Given the description of an element on the screen output the (x, y) to click on. 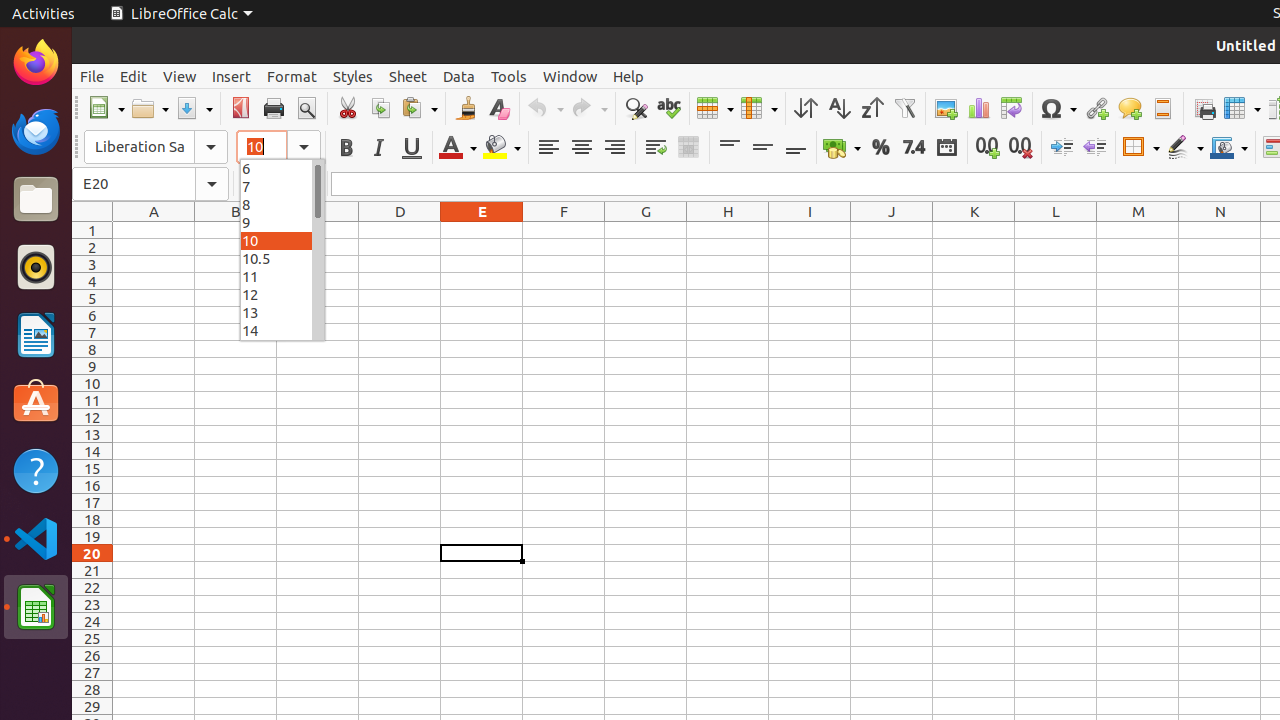
Wrap Text Element type: push-button (655, 147)
Files Element type: push-button (36, 199)
Name Box Element type: combo-box (150, 184)
Print Element type: push-button (273, 108)
Chart Element type: push-button (978, 108)
